Given the description of an element on the screen output the (x, y) to click on. 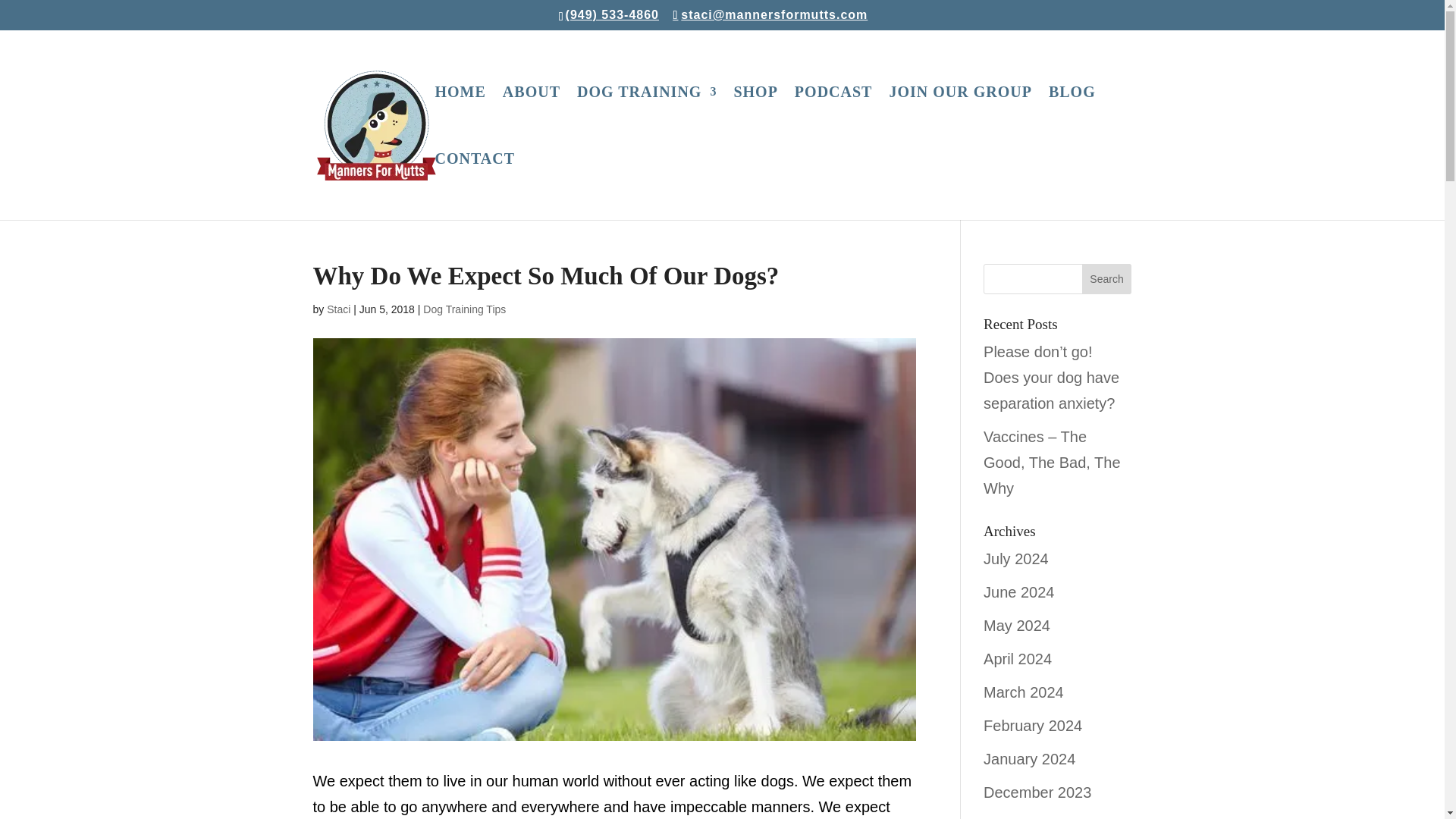
JOIN OUR GROUP (959, 119)
March 2024 (1024, 692)
Search (1106, 278)
CONTACT (475, 186)
DOG TRAINING (646, 119)
Dog Training Tips (464, 309)
April 2024 (1017, 658)
July 2024 (1016, 558)
Posts by Staci (338, 309)
February 2024 (1032, 725)
Search (1106, 278)
PODCAST (833, 119)
Staci (338, 309)
May 2024 (1016, 625)
June 2024 (1019, 591)
